Given the description of an element on the screen output the (x, y) to click on. 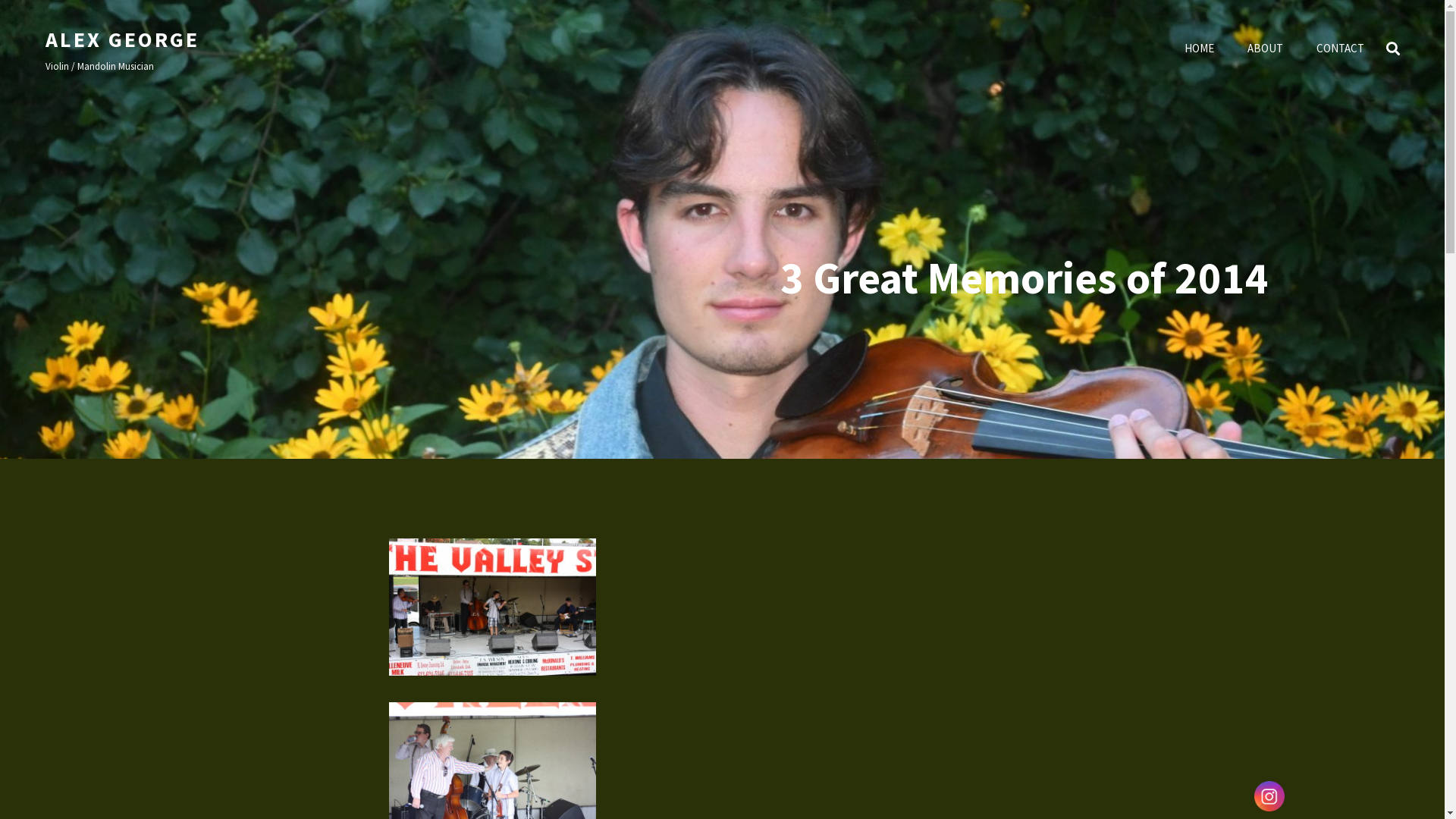
CONTACT Element type: text (1340, 48)
Instagram Element type: hover (1269, 796)
ALEX GEORGE Element type: text (122, 39)
SEARCH Element type: text (1392, 48)
HOME Element type: text (1199, 48)
ABOUT Element type: text (1265, 48)
